Given the description of an element on the screen output the (x, y) to click on. 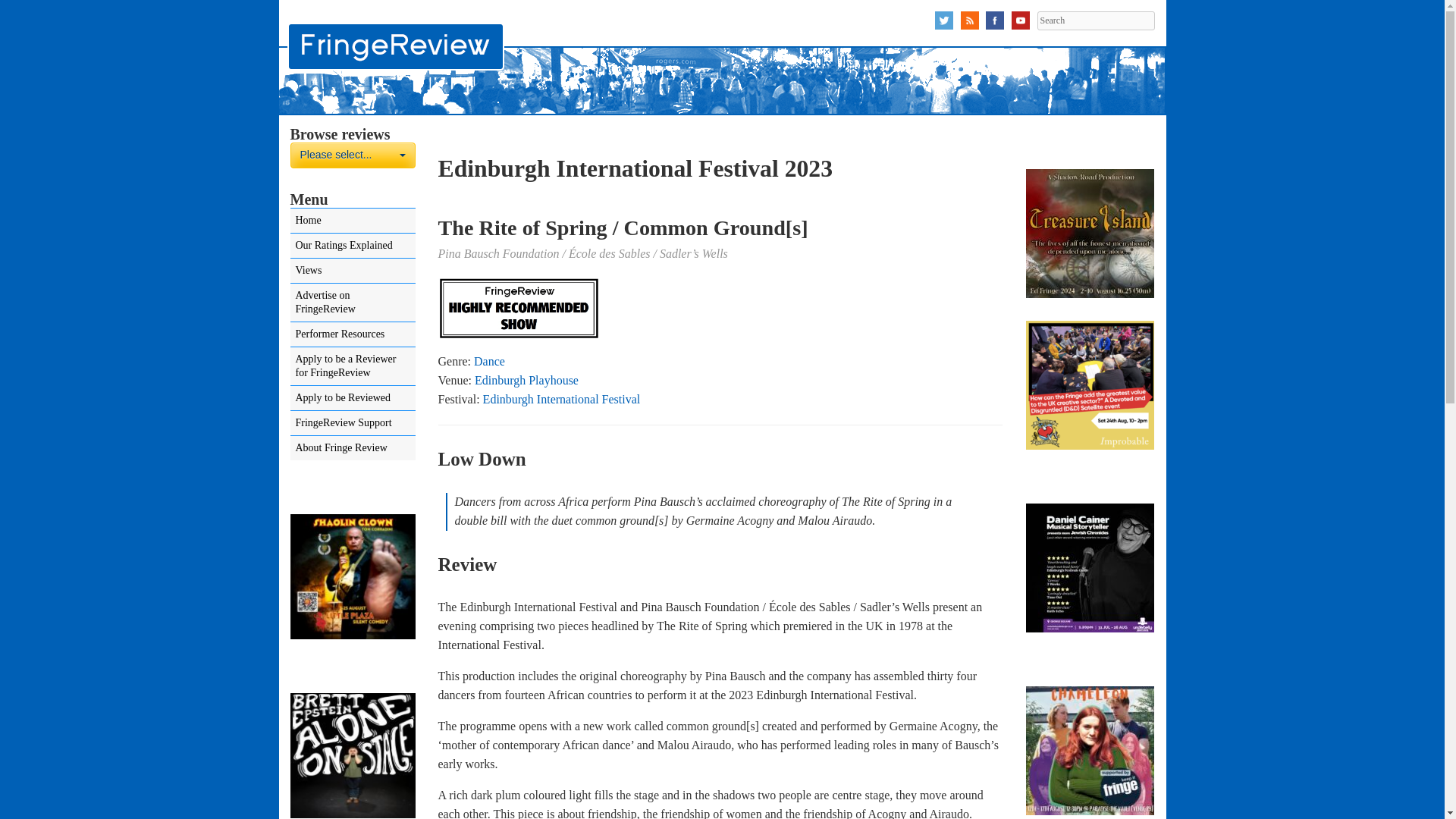
Search (351, 155)
Please select... (1095, 20)
Search (351, 155)
Search for: (1095, 20)
